Given the description of an element on the screen output the (x, y) to click on. 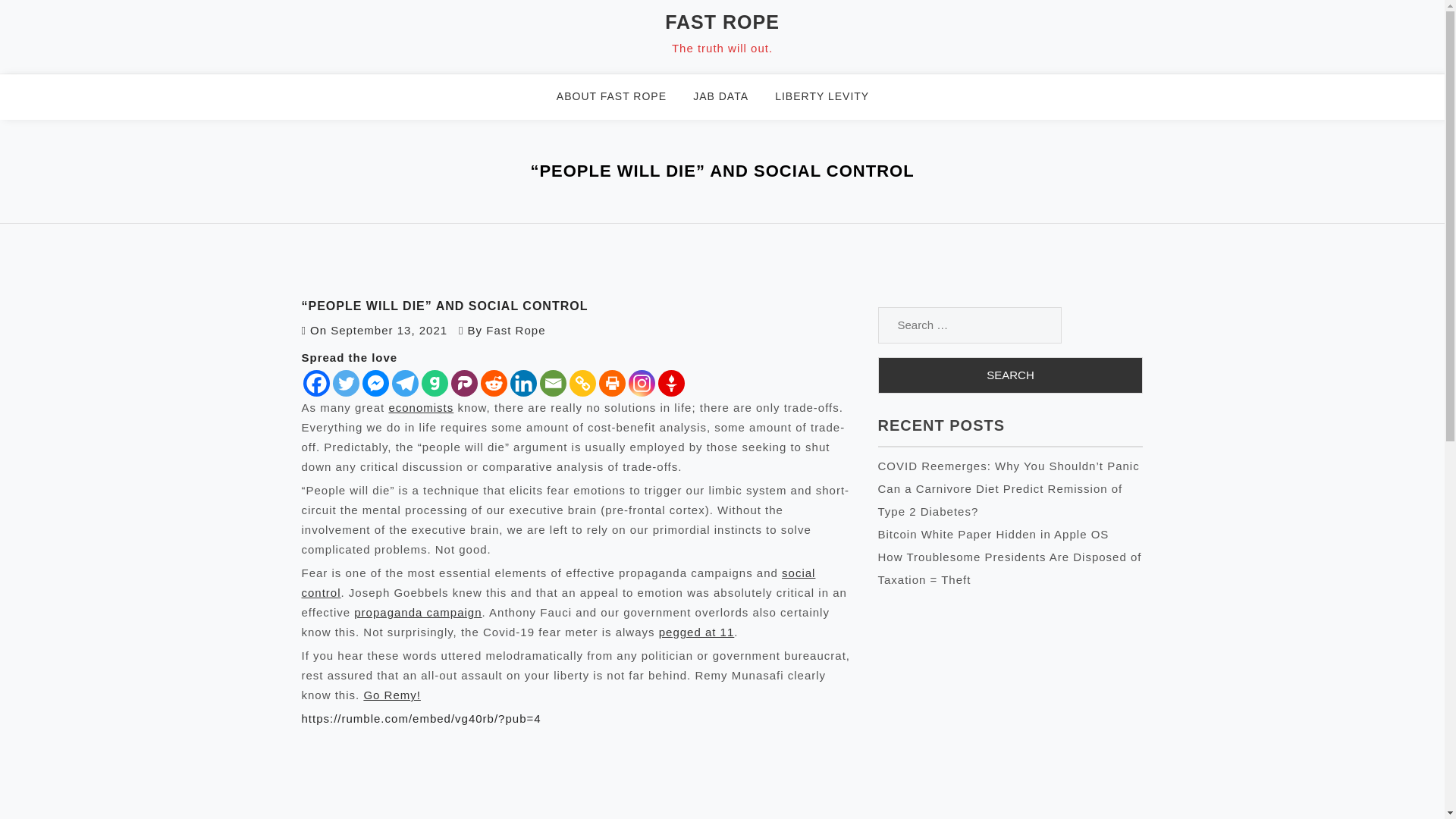
Twitter (344, 383)
September 13, 2021 (388, 329)
Search (1009, 375)
pegged at 11 (697, 631)
LIBERTY LEVITY (831, 96)
FAST ROPE (721, 21)
economists (420, 407)
propaganda campaign (417, 612)
